Given the description of an element on the screen output the (x, y) to click on. 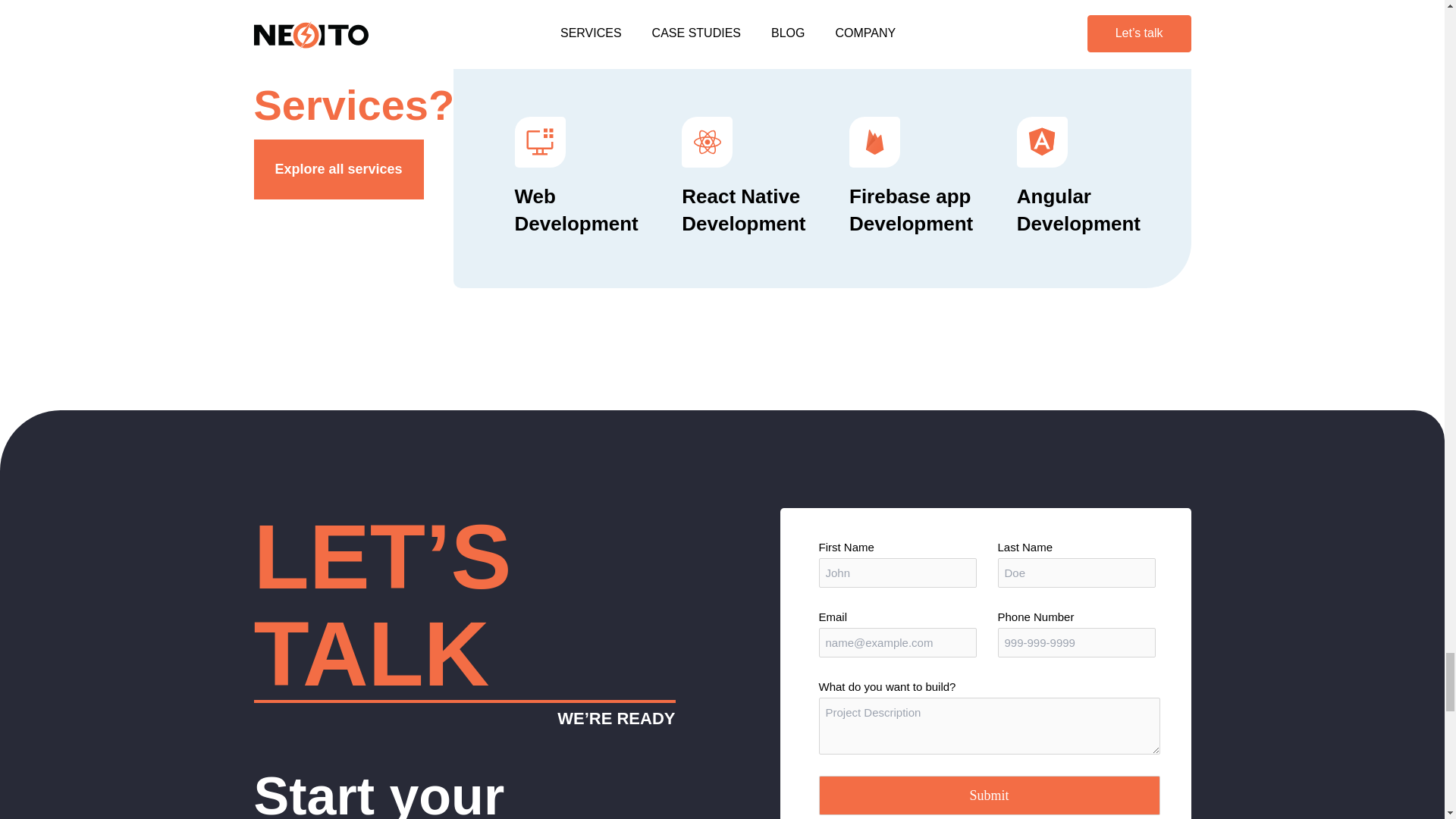
Submit (989, 794)
